Given the description of an element on the screen output the (x, y) to click on. 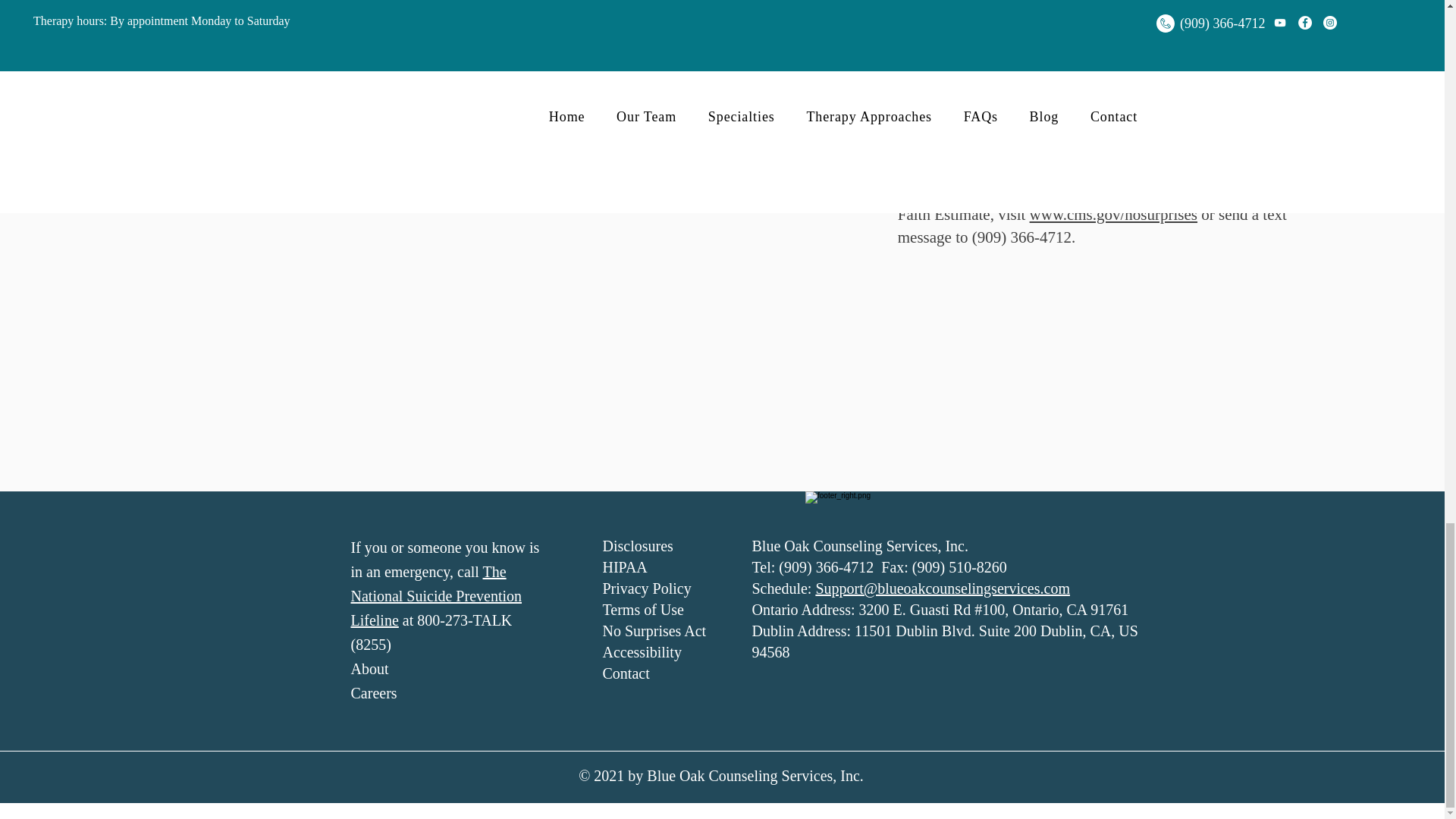
The National Suicide Prevention Lifeline (435, 595)
